Given the description of an element on the screen output the (x, y) to click on. 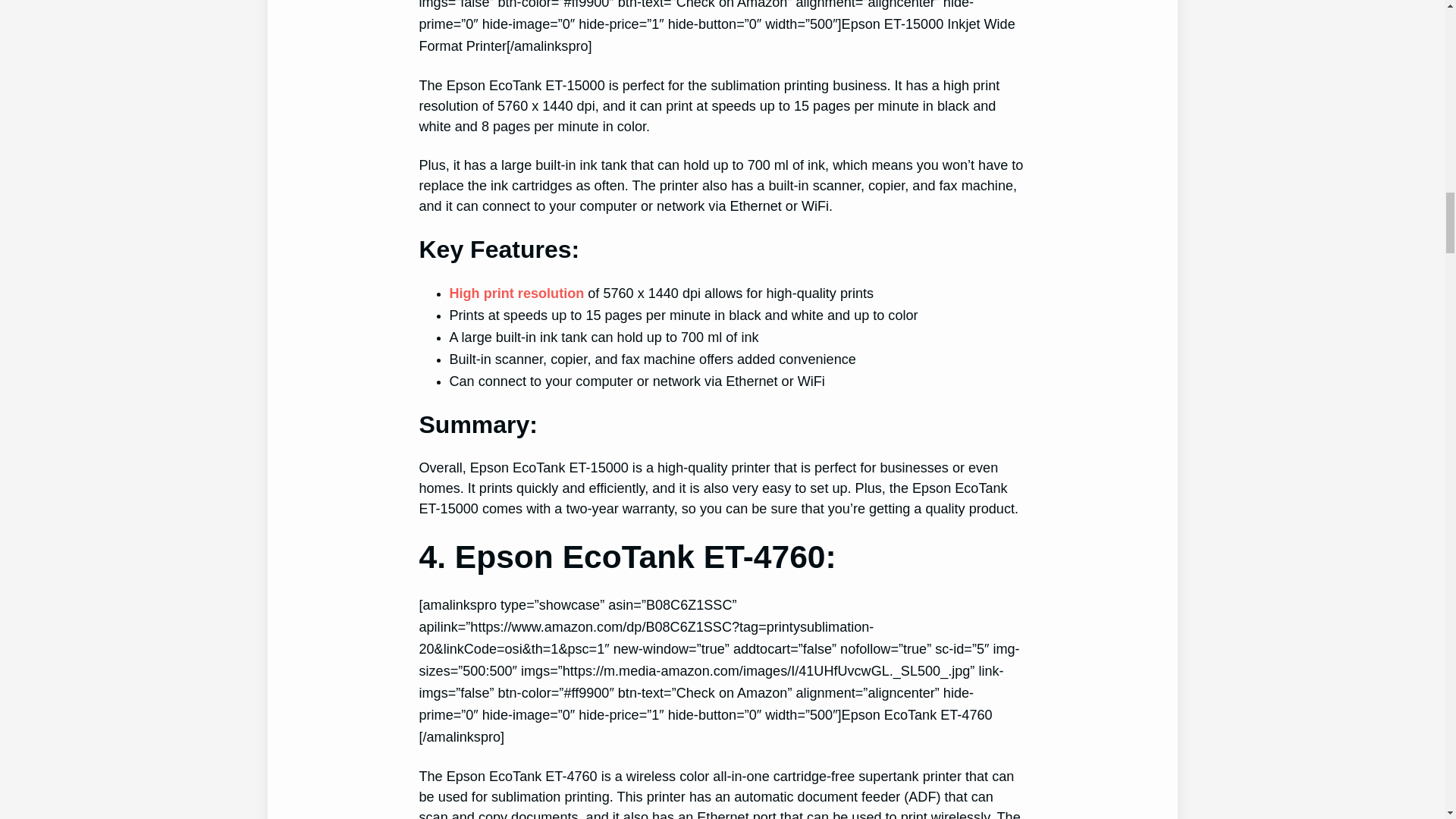
High print resolution (515, 293)
